Given the description of an element on the screen output the (x, y) to click on. 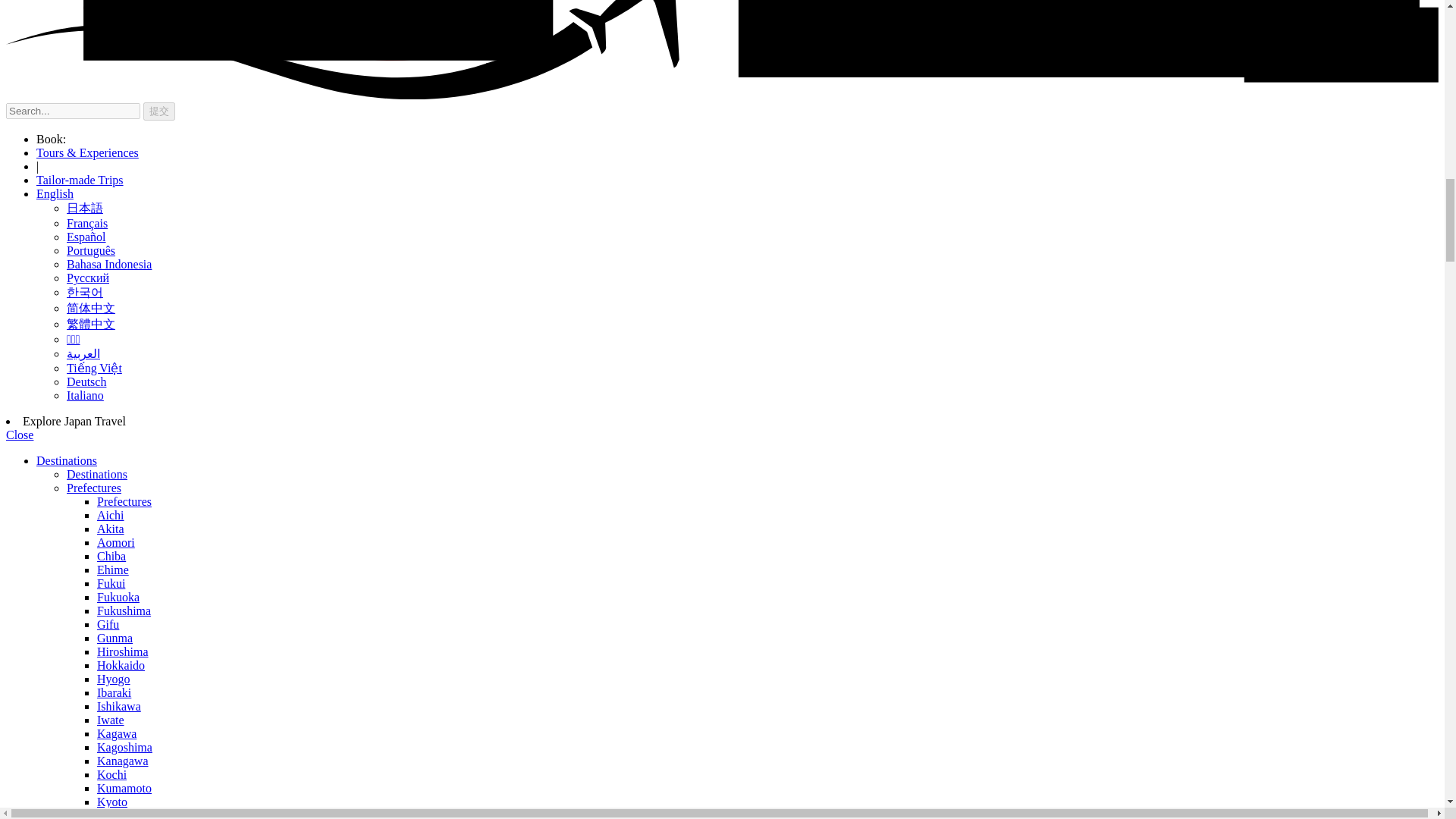
Italiano (84, 395)
Chiba (111, 555)
Hiroshima (122, 651)
English (55, 193)
Close (19, 434)
Akita (110, 528)
Hyogo (114, 678)
Bahasa Indonesia (108, 264)
Tailor-made Trips (79, 179)
Fukui (111, 583)
Destinations (66, 460)
Destinations (97, 473)
Deutsch (86, 381)
Gunma (114, 637)
